Given the description of an element on the screen output the (x, y) to click on. 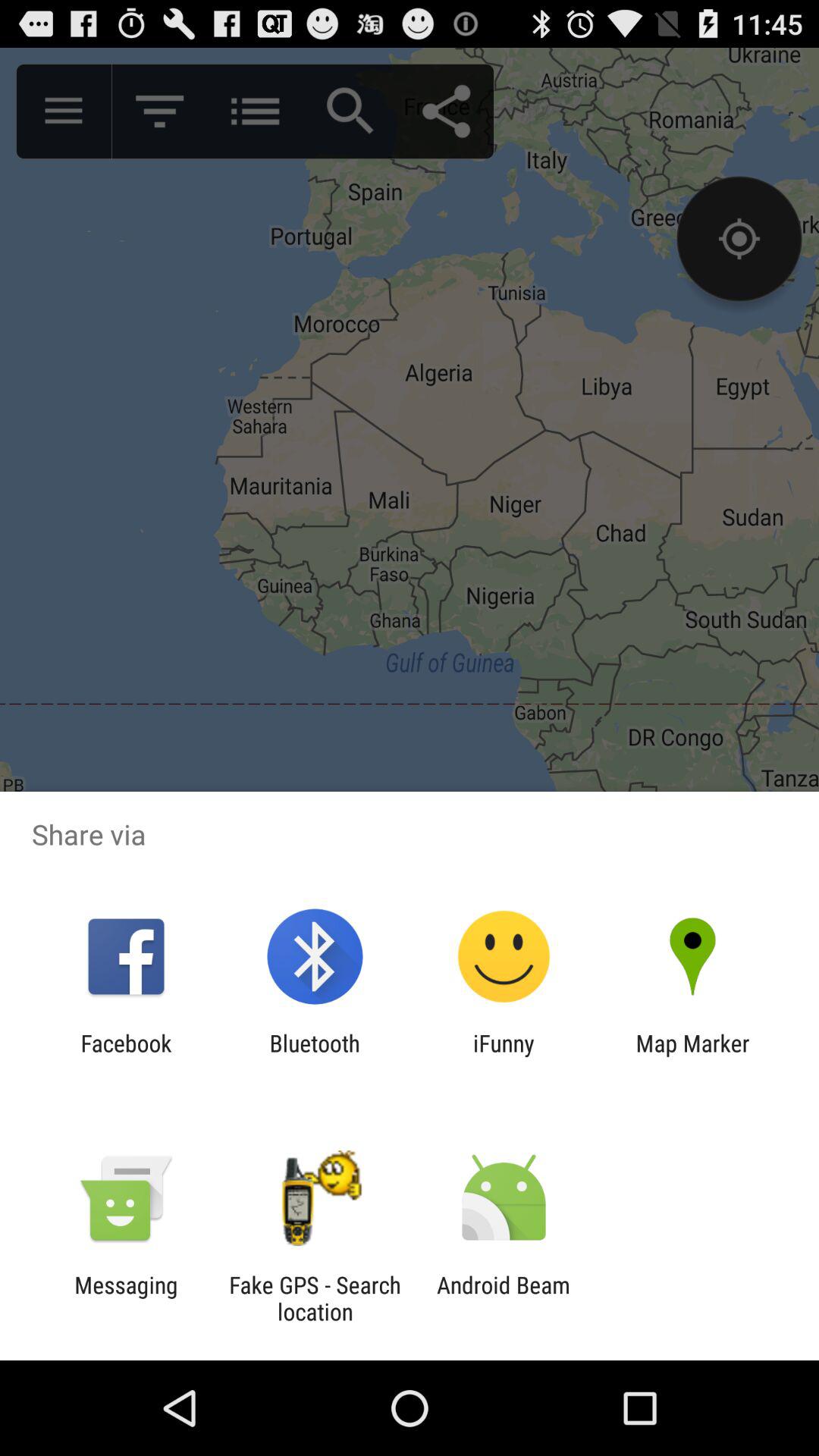
tap app to the right of the facebook icon (314, 1056)
